Given the description of an element on the screen output the (x, y) to click on. 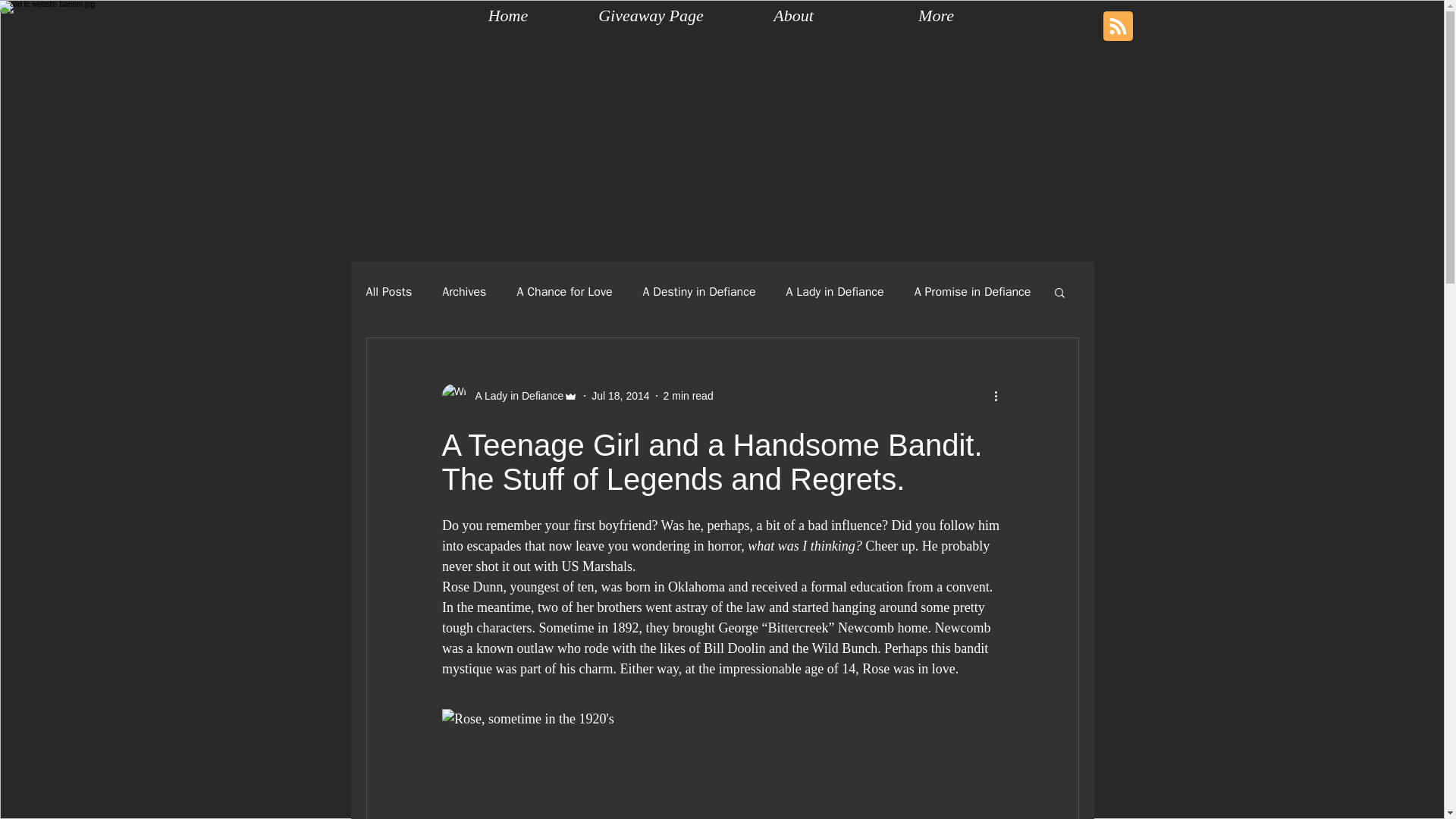
A Lady in Defiance (514, 396)
A Promise in Defiance (972, 291)
Archives (464, 291)
All Posts (388, 291)
2 min read (688, 395)
Jul 18, 2014 (620, 395)
A Destiny in Defiance (699, 291)
Home (507, 15)
Giveaway Page (650, 15)
About (793, 15)
A Chance for Love (563, 291)
A Lady in Defiance (834, 291)
